Given the description of an element on the screen output the (x, y) to click on. 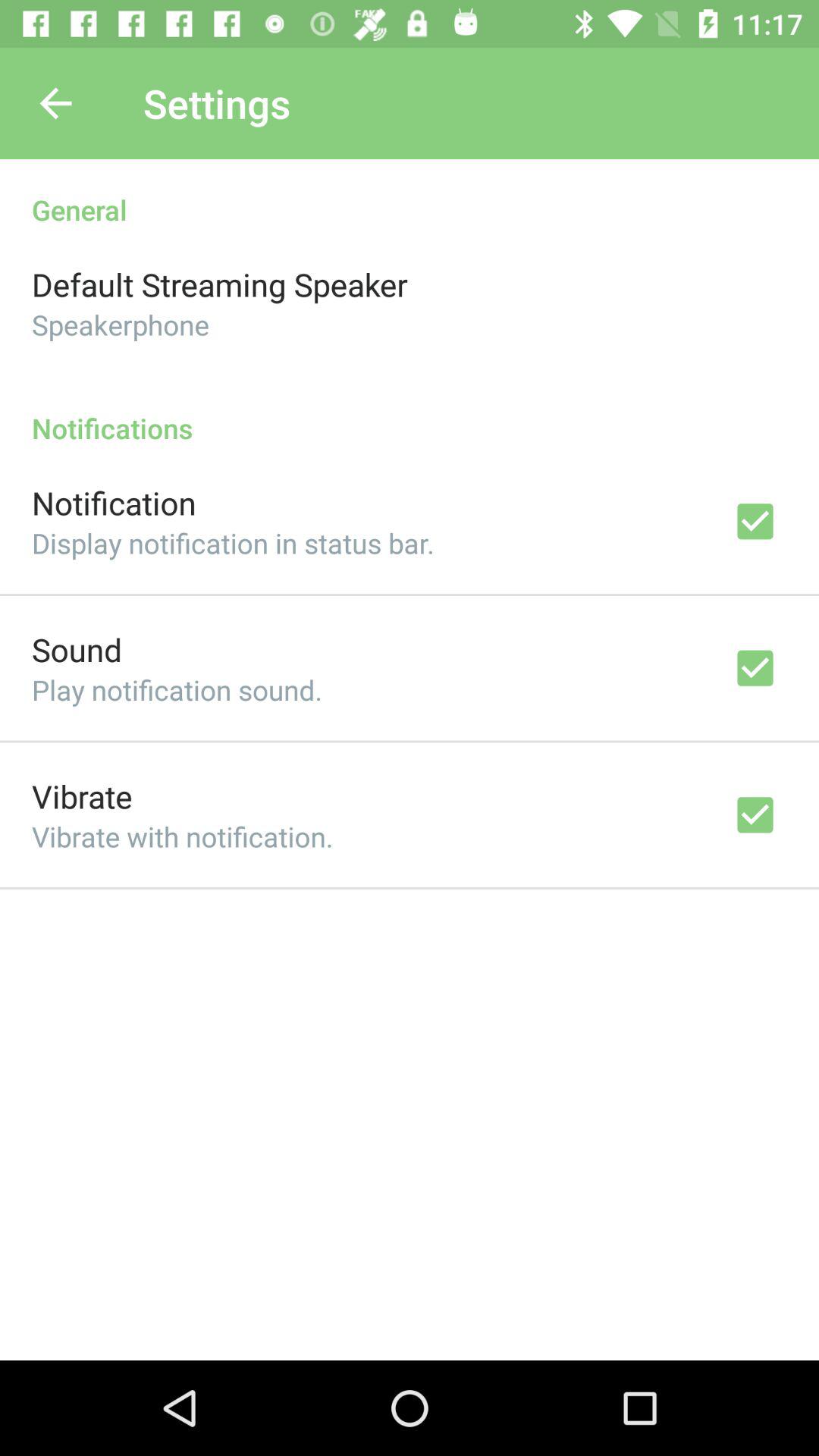
launch the icon above the sound icon (232, 542)
